Given the description of an element on the screen output the (x, y) to click on. 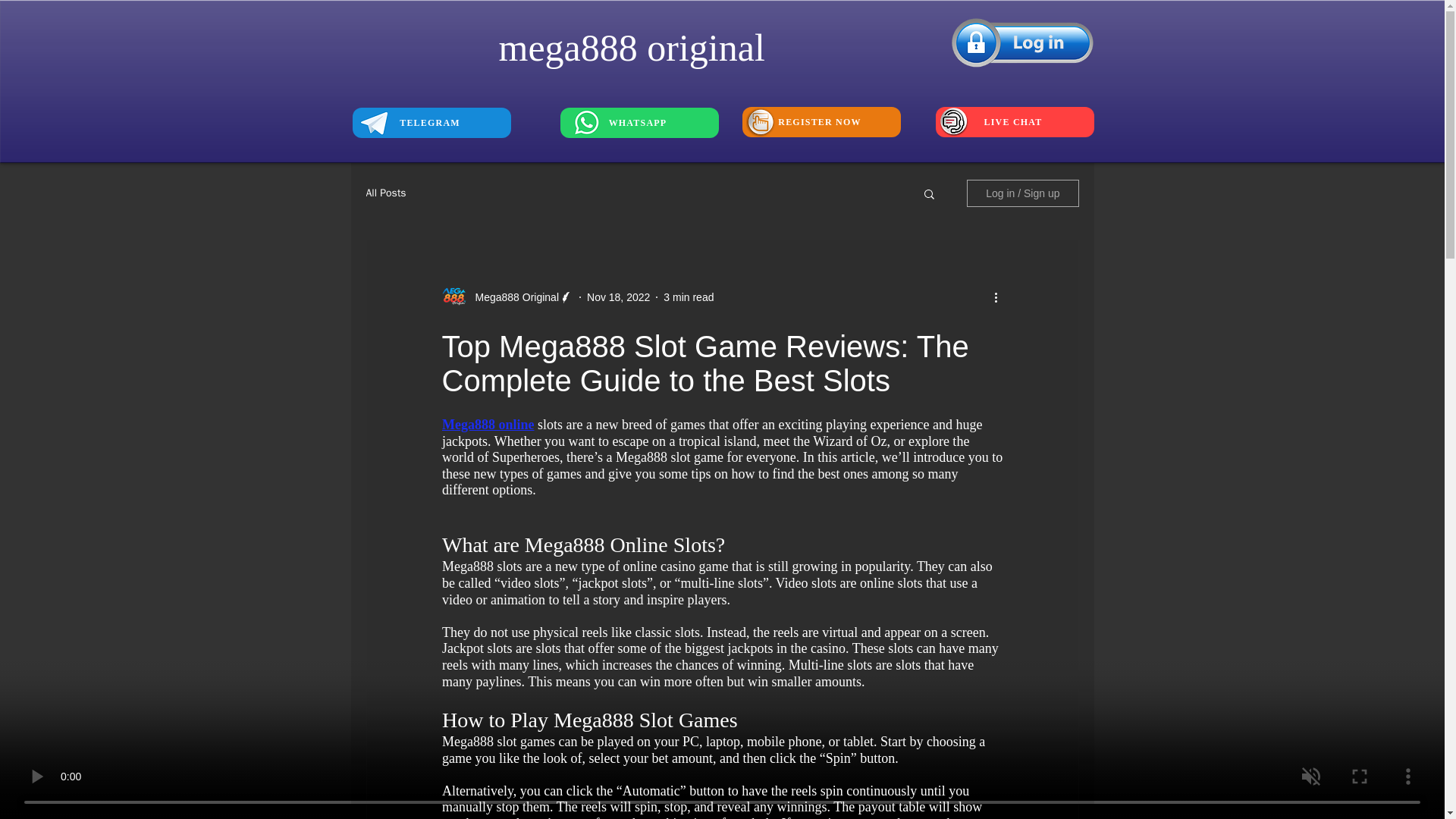
Nov 18, 2022 (617, 297)
TELEGRAM (431, 122)
3 min read (688, 297)
REGISTER NOW (820, 122)
mega888 original (632, 47)
WHATSAPP (638, 122)
Mega888 online (487, 424)
LIVE CHAT (1015, 122)
Mega888 Original  (512, 297)
All Posts (385, 192)
